Given the description of an element on the screen output the (x, y) to click on. 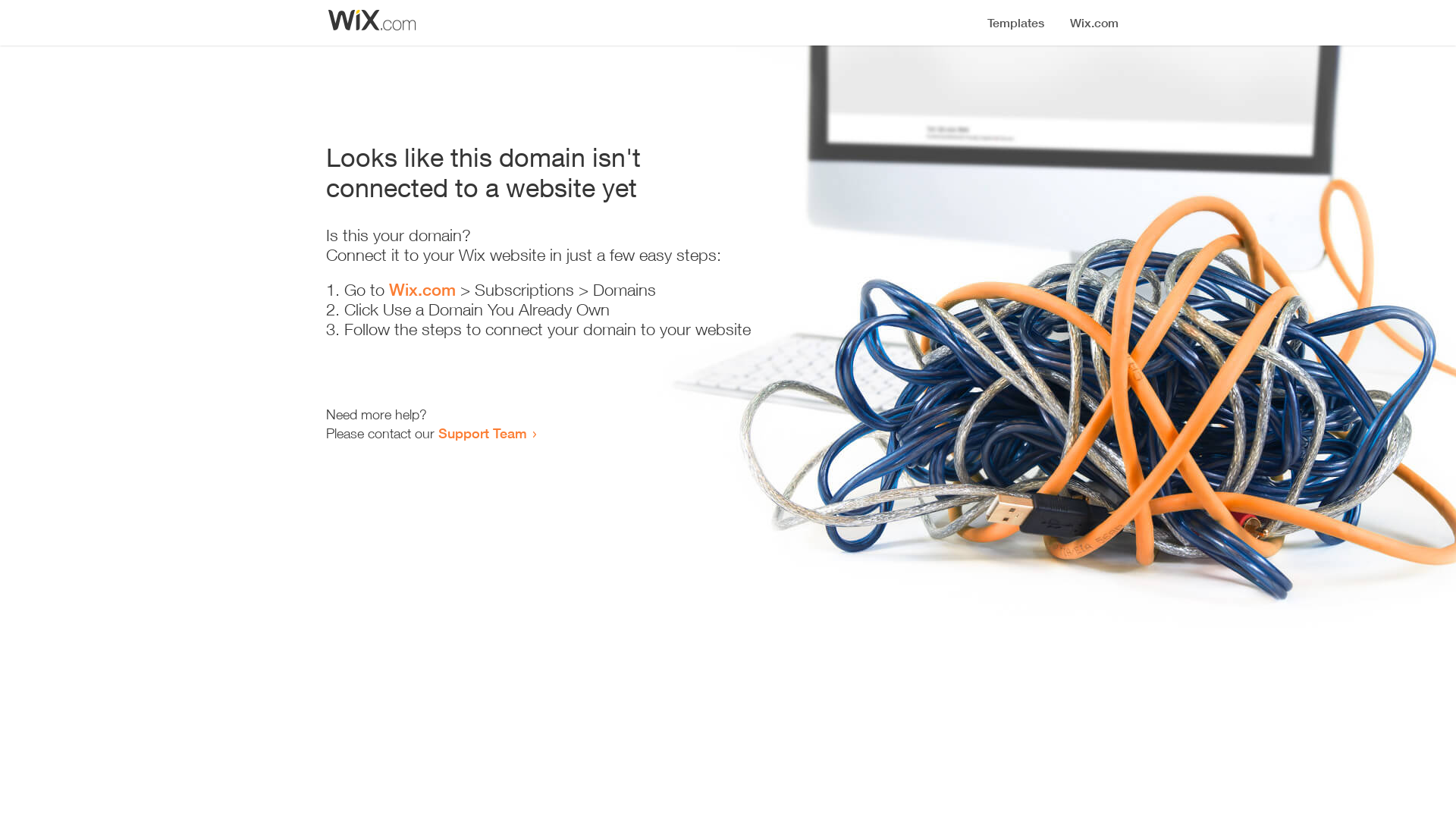
Support Team Element type: text (482, 432)
Wix.com Element type: text (422, 289)
